Given the description of an element on the screen output the (x, y) to click on. 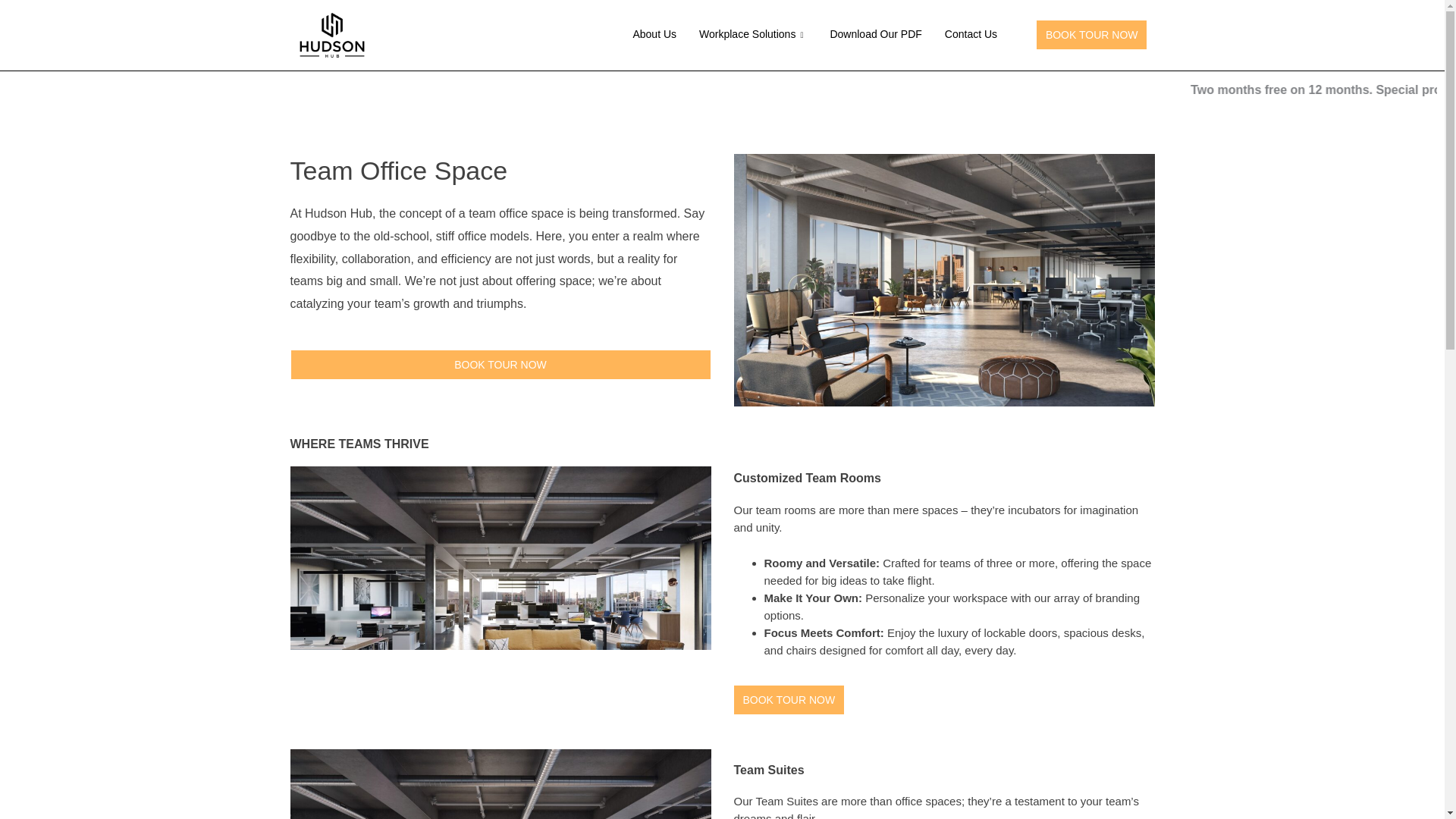
BOOK TOUR NOW (499, 364)
Workplace Solutions (752, 34)
Contact Us (971, 34)
BOOK TOUR NOW (1091, 34)
Download Our PDF (875, 34)
About Us (654, 34)
BOOK TOUR NOW (788, 699)
